Given the description of an element on the screen output the (x, y) to click on. 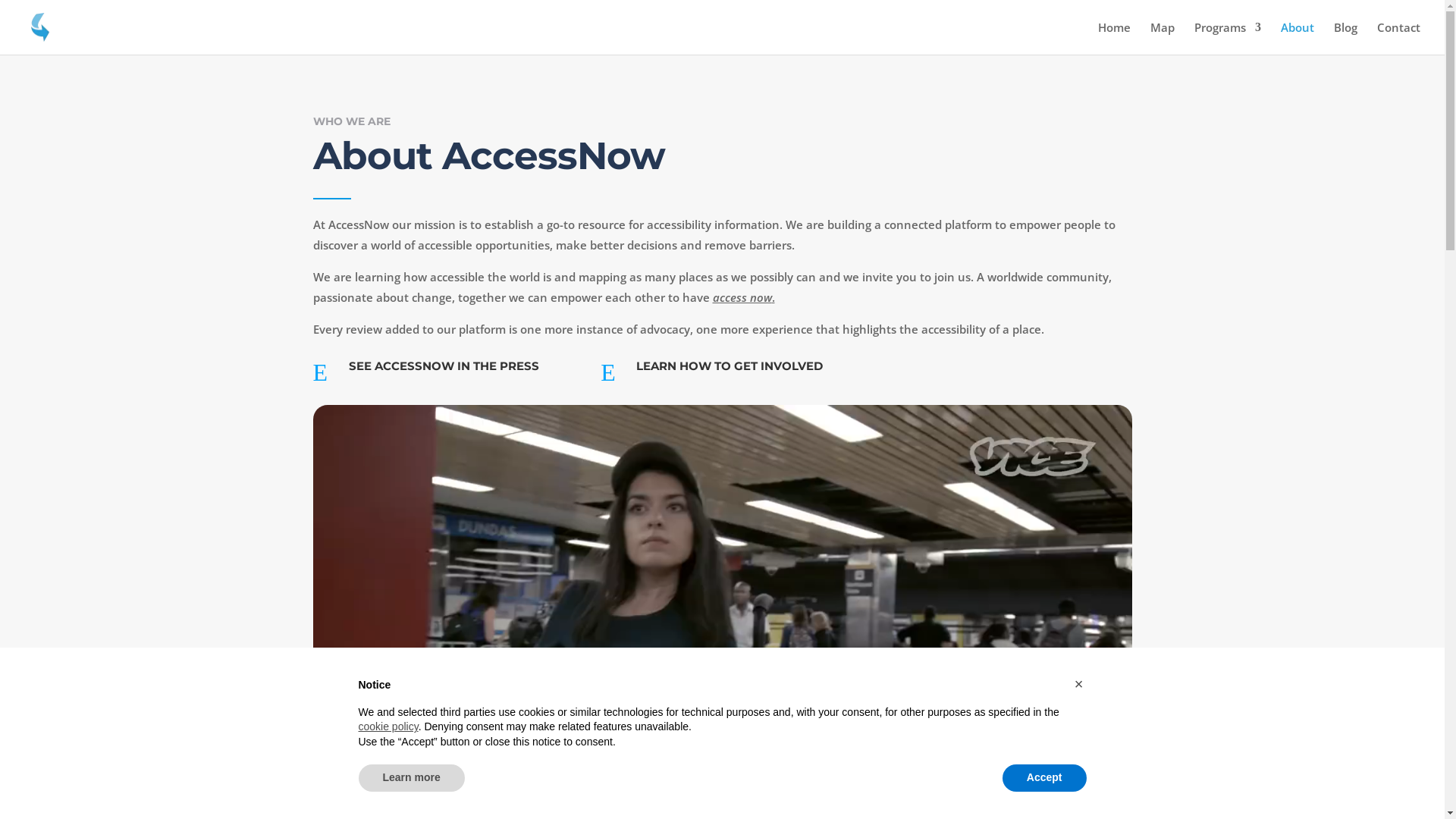
Accept Element type: text (1044, 777)
Blog Element type: text (1345, 37)
LEARN HOW TO GET INVOLVED Element type: text (729, 364)
Learn more Element type: text (410, 777)
Programs Element type: text (1227, 37)
cookie policy Element type: text (387, 726)
Map Element type: text (1162, 37)
SEE ACCESSNOW IN THE PRESS Element type: text (443, 364)
Home Element type: text (1114, 37)
E Element type: text (324, 371)
E Element type: text (612, 371)
About Element type: text (1297, 37)
Contact Element type: text (1398, 37)
